Given the description of an element on the screen output the (x, y) to click on. 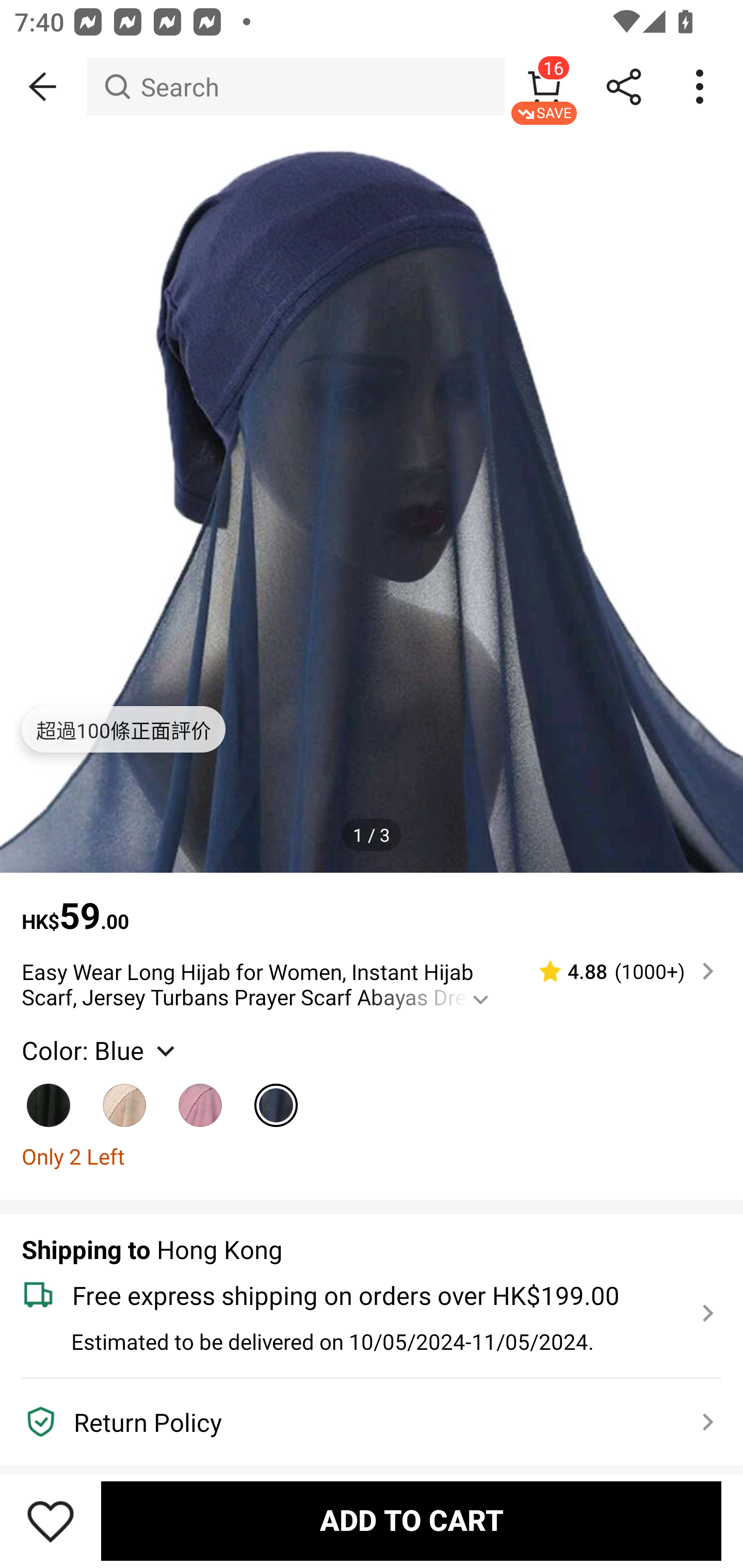
BACK (43, 86)
16 SAVE (543, 87)
Search (295, 87)
PHOTOS 1 / 3 超過100條正面評价 (371, 501)
1 / 3 (371, 834)
HK$59.00 (371, 906)
4.88 (1000‎+) (617, 971)
Color: Blue (100, 1050)
Black (48, 1097)
Beige (124, 1097)
Dusty Pink (200, 1097)
Blue (276, 1097)
Only 2 Left (371, 1156)
Return Policy (359, 1421)
ADD TO CART (411, 1520)
Save (50, 1520)
